Given the description of an element on the screen output the (x, y) to click on. 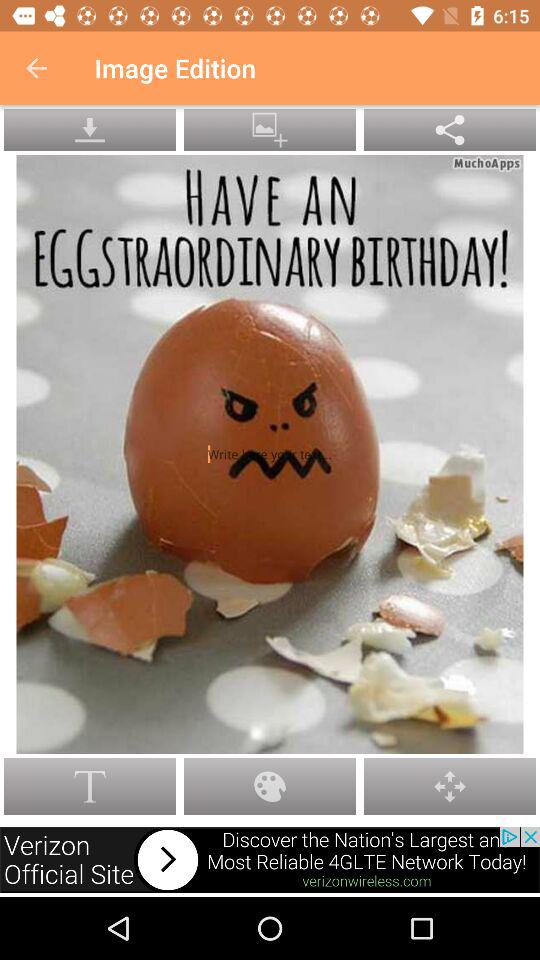
advertisements button (270, 859)
